Given the description of an element on the screen output the (x, y) to click on. 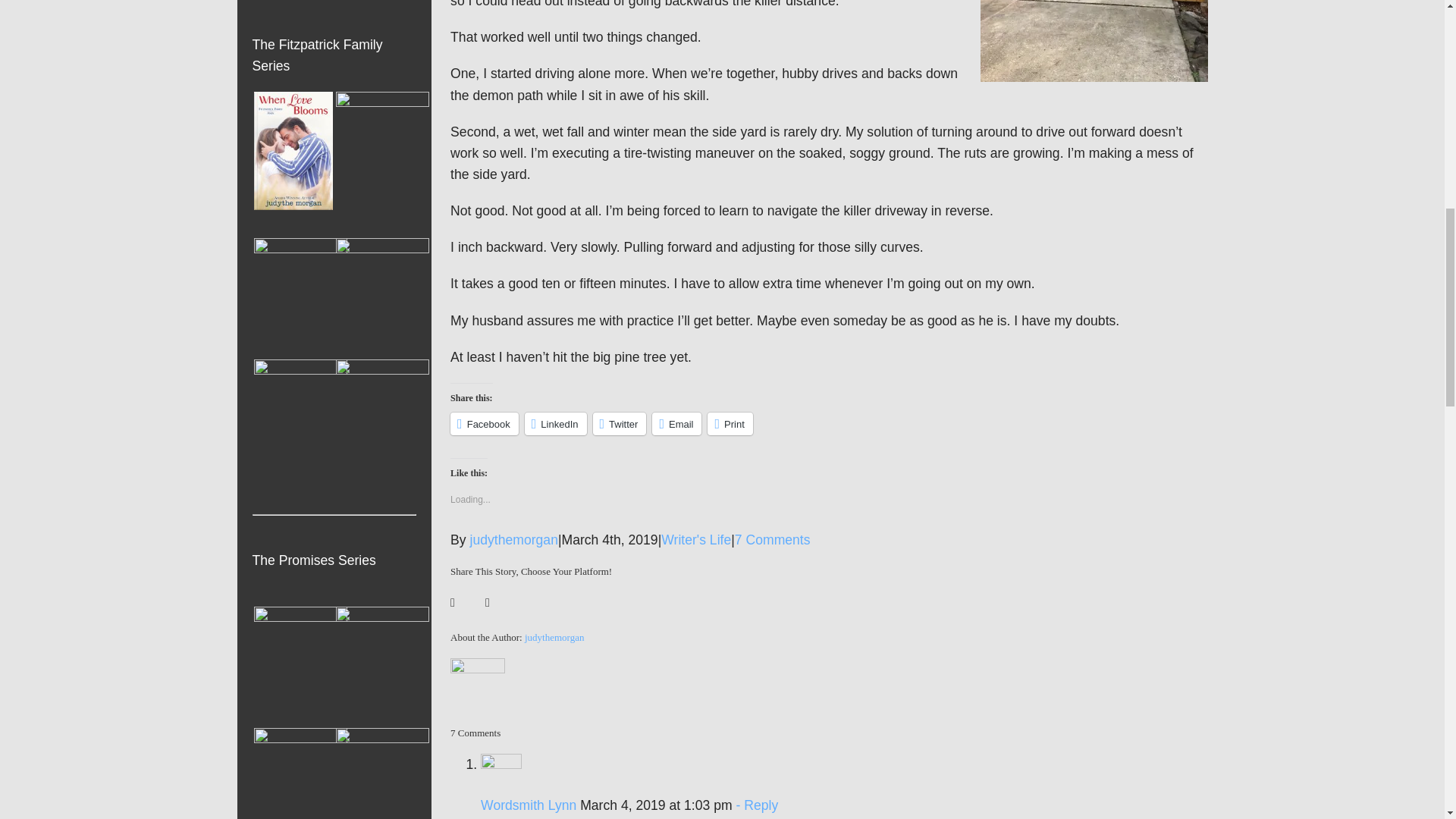
Posts by judythemorgan (513, 539)
LinkedIn (555, 423)
Writer's Life (695, 539)
judythemorgan (513, 539)
Email (676, 423)
Twitter (619, 423)
judythemorgan (553, 636)
Click to email a link to a friend (676, 423)
Click to share on Facebook (483, 423)
- Reply (755, 805)
